Given the description of an element on the screen output the (x, y) to click on. 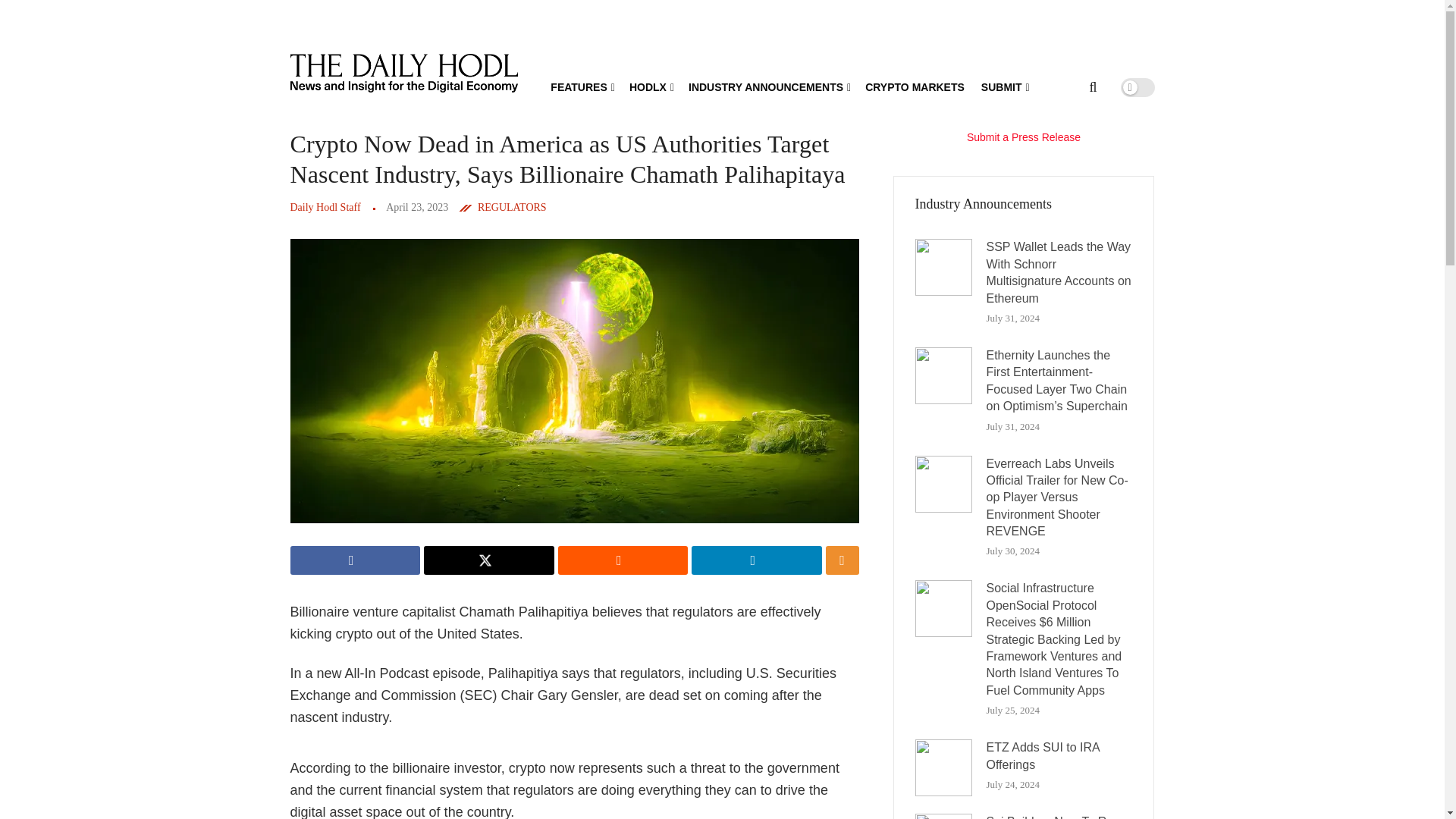
CRYPTO MARKETS (913, 86)
SUBMIT (1004, 86)
INDUSTRY ANNOUNCEMENTS (768, 86)
HODLX (649, 86)
FEATURES (581, 86)
